Given the description of an element on the screen output the (x, y) to click on. 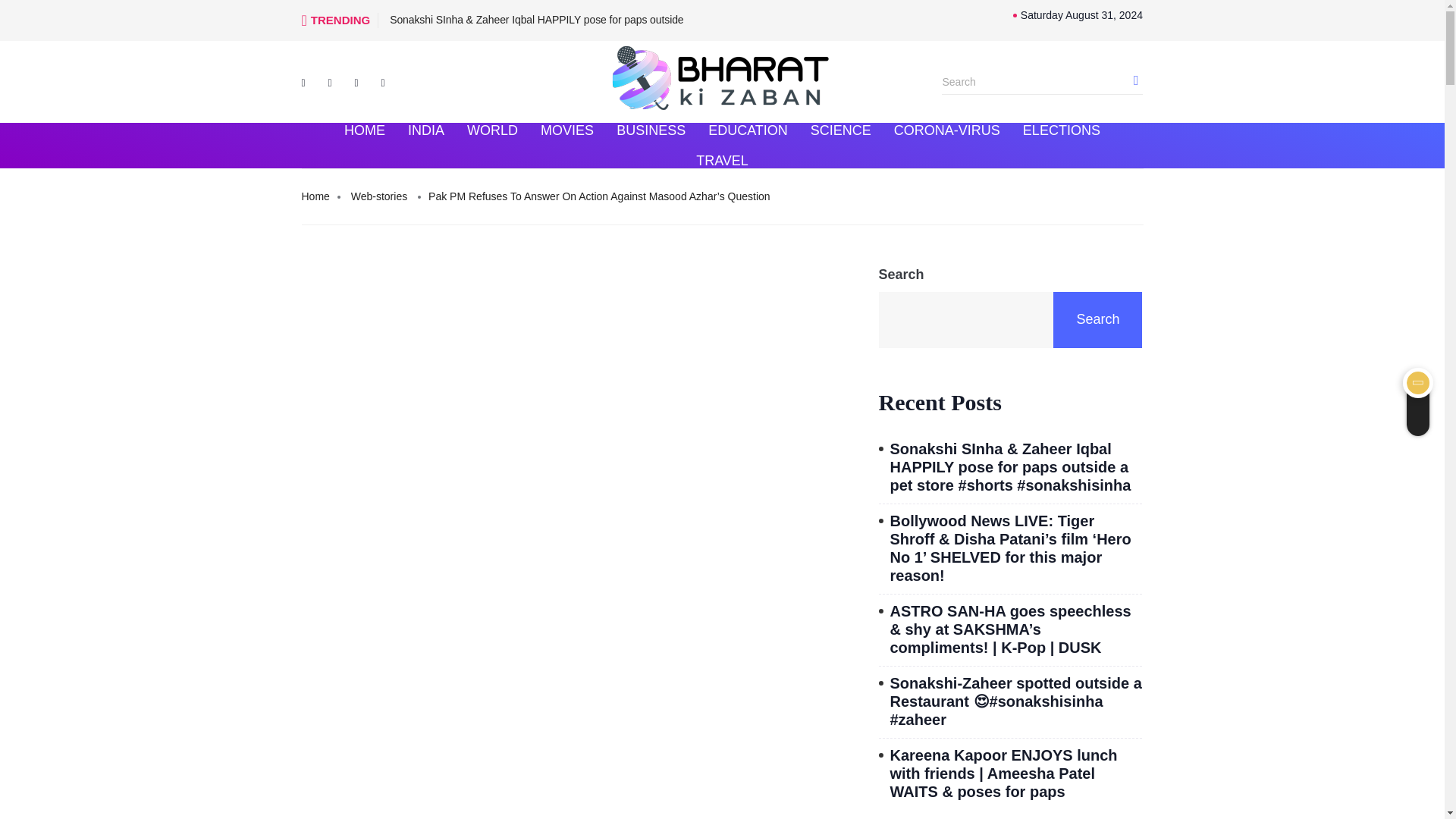
TRAVEL (722, 160)
SCIENCE (840, 130)
BUSINESS (651, 130)
Home (315, 196)
WORLD (492, 130)
CORONA-VIRUS (946, 130)
HOME (364, 130)
ELECTIONS (1061, 130)
EDUCATION (748, 130)
Web-stories (378, 196)
